Given the description of an element on the screen output the (x, y) to click on. 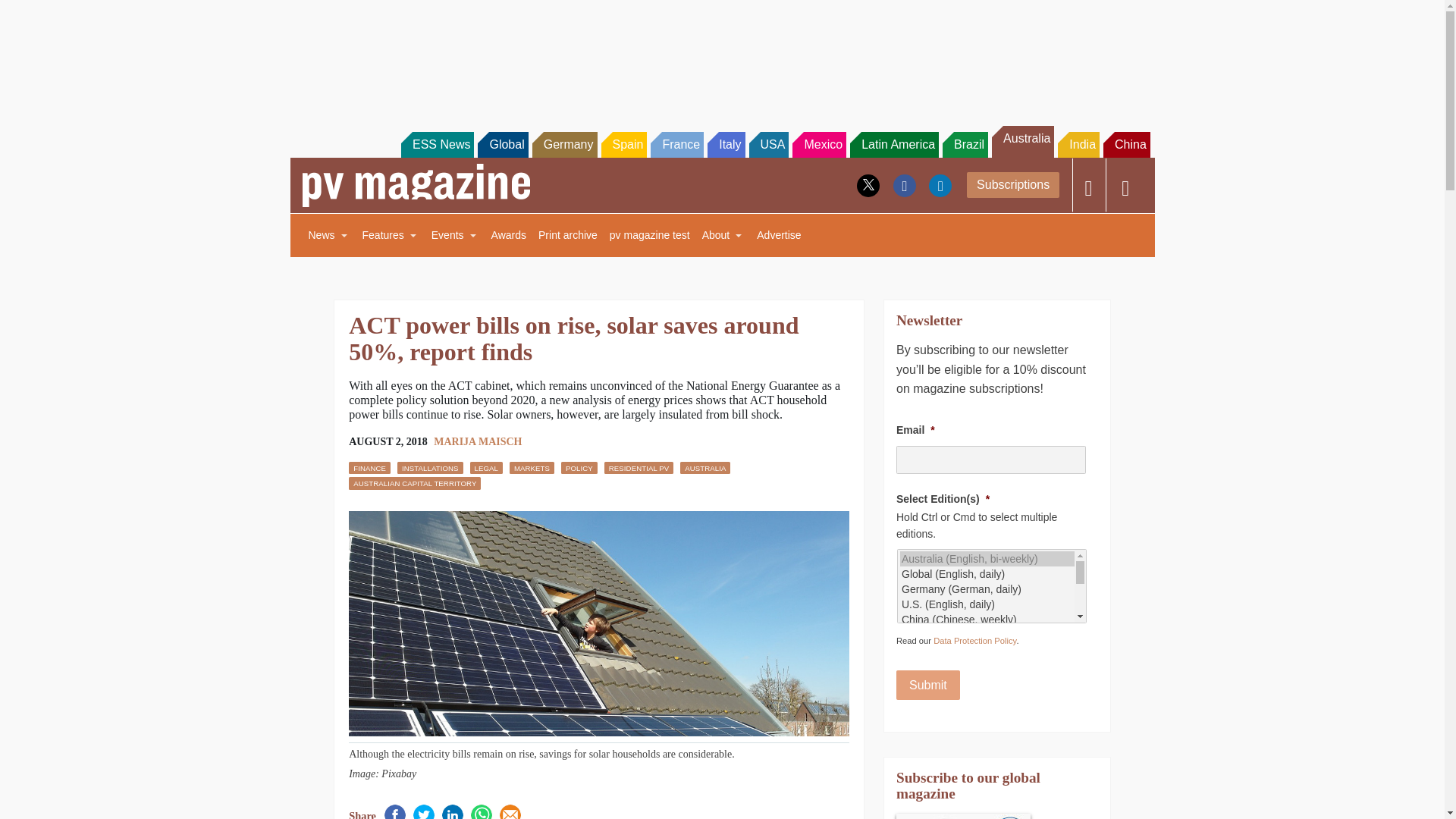
ESS News (437, 144)
France (676, 144)
Brazil (965, 144)
USA (769, 144)
Latin America (894, 144)
Australia (1022, 142)
Thursday, August 2, 2018, 11:42 pm (388, 442)
Global (502, 144)
Subscriptions (1012, 184)
pv magazine - Photovoltaics Markets and Technology (415, 185)
